Given the description of an element on the screen output the (x, y) to click on. 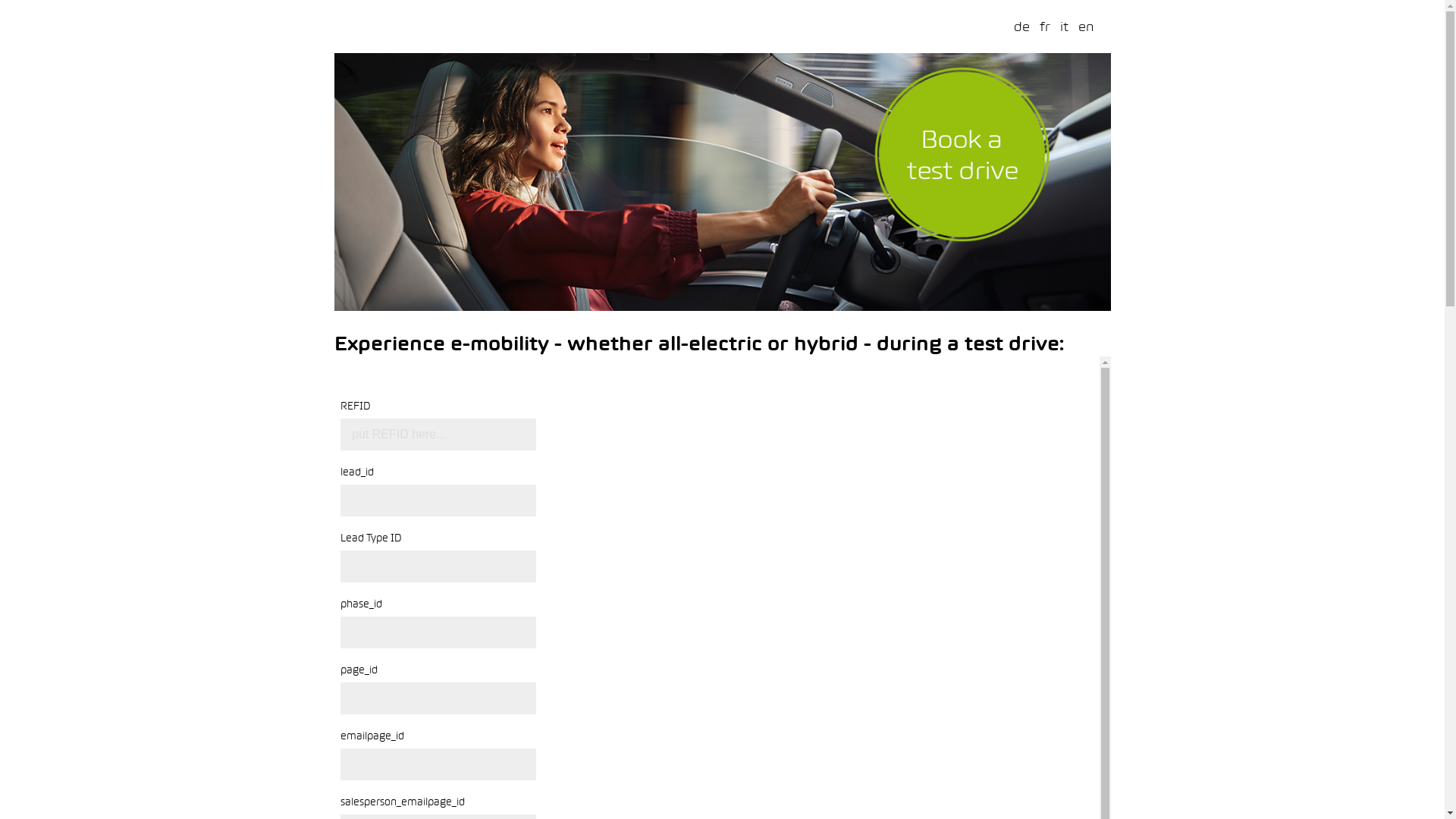
en Element type: text (1086, 26)
de Element type: text (1021, 26)
it Element type: text (1064, 26)
fr Element type: text (1043, 26)
